Given the description of an element on the screen output the (x, y) to click on. 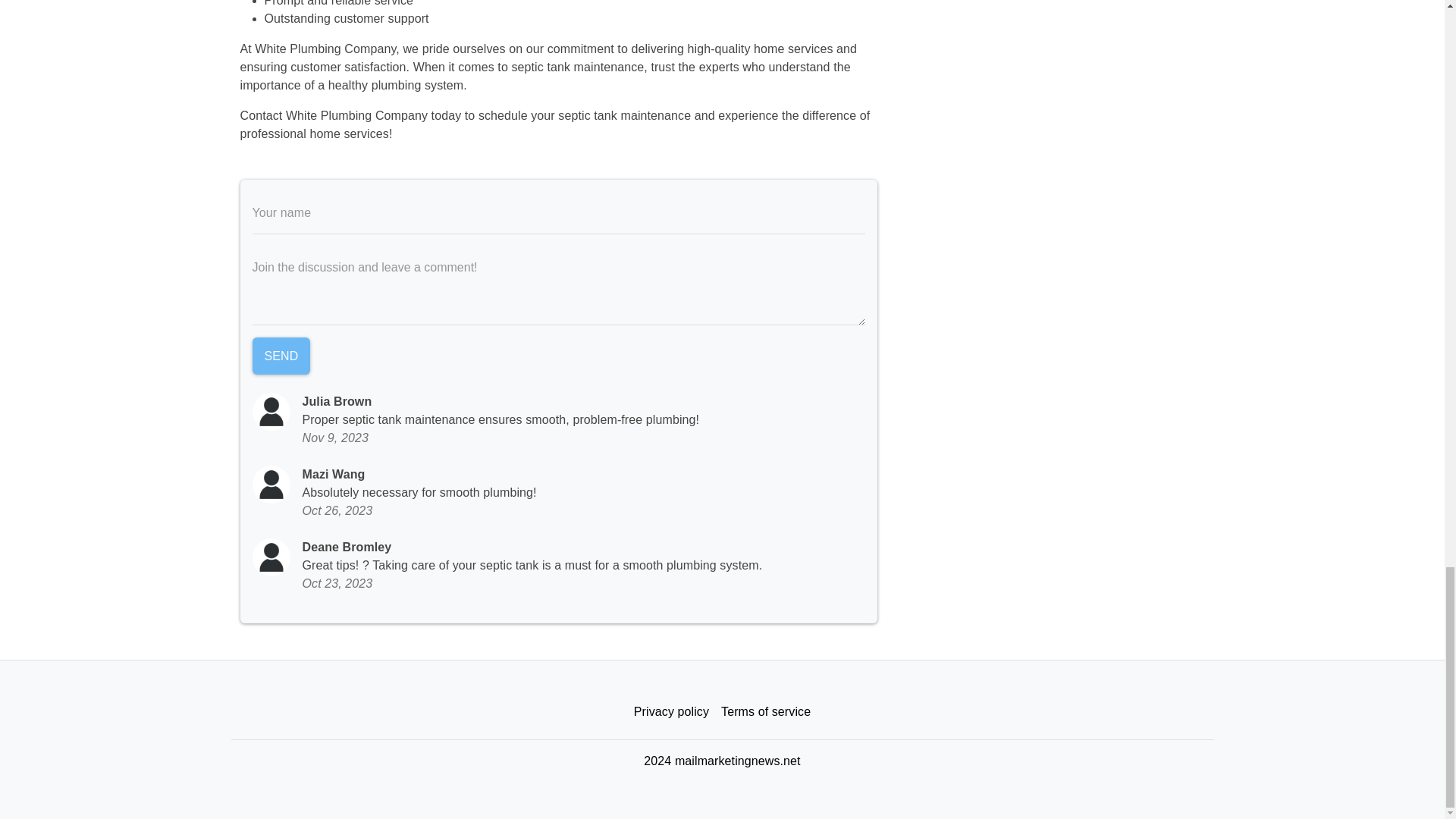
Terms of service (765, 711)
Send (280, 356)
Send (280, 356)
Privacy policy (670, 711)
